Given the description of an element on the screen output the (x, y) to click on. 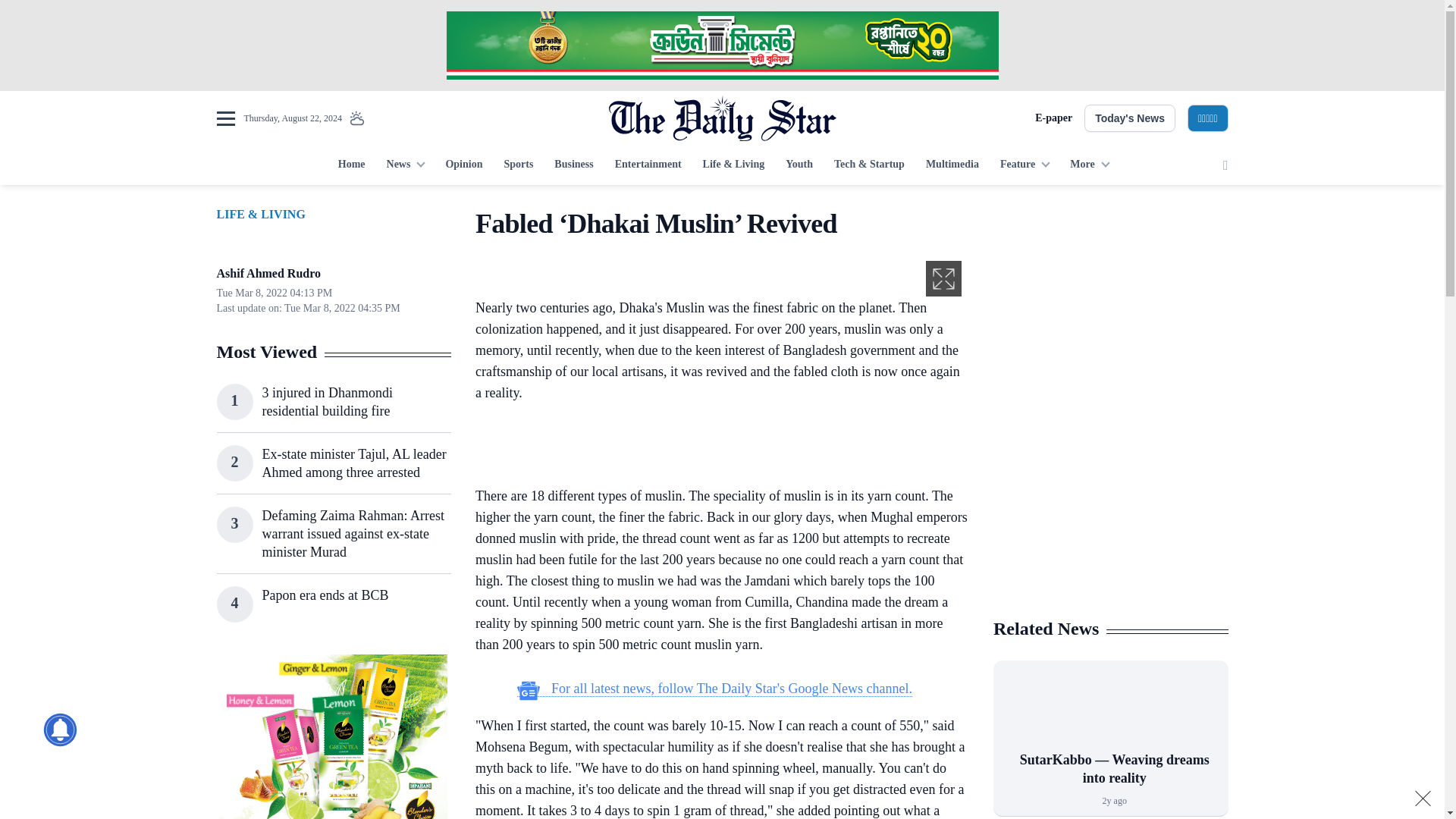
News (405, 165)
Opinion (463, 165)
Entertainment (647, 165)
3rd party ad content (1110, 506)
Today's News (1129, 117)
Feature (1024, 165)
E-paper (1053, 117)
Sports (518, 165)
Multimedia (952, 165)
